Given the description of an element on the screen output the (x, y) to click on. 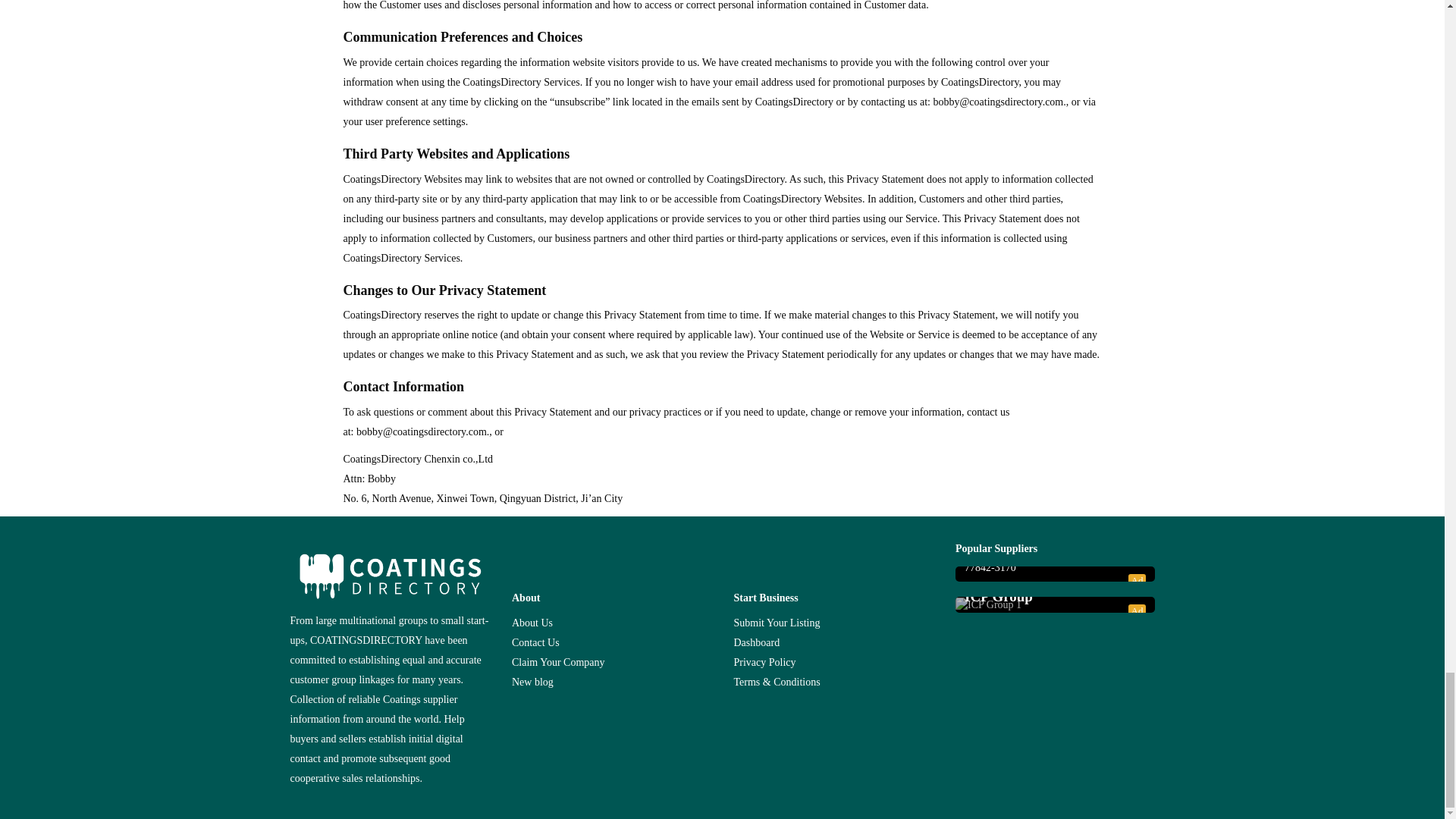
Submit Your Listing (777, 622)
Dashboard (756, 642)
Contact Us (535, 642)
Privacy Policy (764, 662)
Claim Your Company (558, 662)
About Us (532, 622)
ICP Group (1054, 596)
New blog (532, 681)
